Given the description of an element on the screen output the (x, y) to click on. 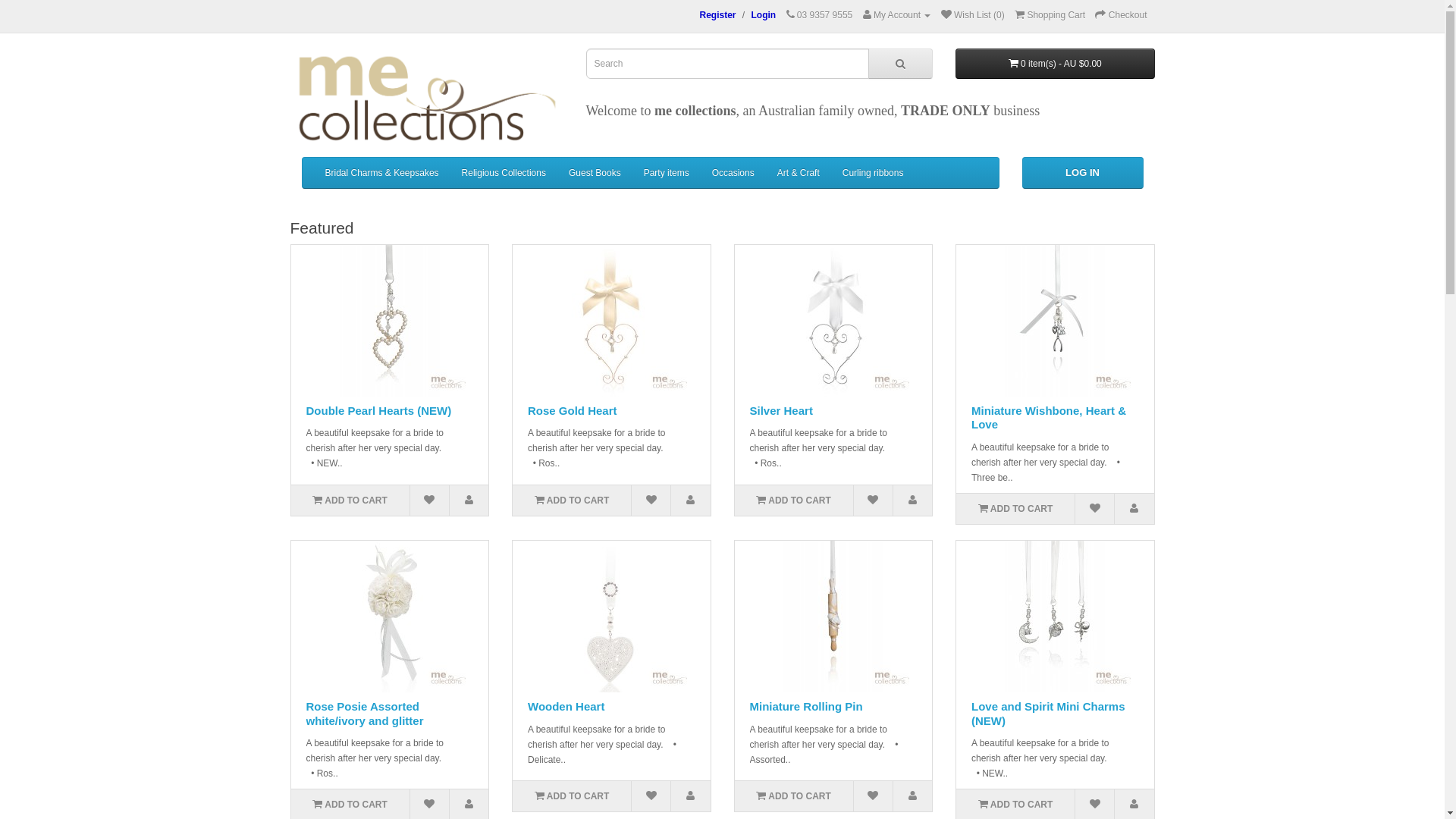
ME Collections Element type: hover (425, 98)
ADD TO CART Element type: text (350, 500)
Guest Books Element type: text (594, 172)
Religious Collections Element type: text (503, 172)
Rose Posie Assorted white/ivory and glitter Element type: text (364, 713)
LOG IN Element type: text (1082, 172)
Miniature Rolling Pin Element type: text (805, 705)
Rose Gold Heart  Element type: hover (611, 320)
ADD TO CART Element type: text (793, 796)
Shopping Cart Element type: text (1049, 14)
Party items Element type: text (666, 172)
Love and Spirit Mini Charms (NEW) Element type: hover (1054, 616)
Occasions Element type: text (732, 172)
Art & Craft Element type: text (798, 172)
Miniature Wishbone, Heart & Love Element type: hover (1054, 320)
Rose Posie Assorted white/ivory and glitter Element type: hover (389, 616)
Curling ribbons Element type: text (873, 172)
ADD TO CART Element type: text (571, 796)
Silver Heart  Element type: hover (833, 320)
Double Pearl Hearts (NEW) Element type: text (378, 410)
Bridal Charms & Keepsakes Element type: text (381, 172)
ADD TO CART Element type: text (571, 500)
Miniature Rolling Pin   Element type: hover (833, 616)
Login Element type: text (763, 14)
Checkout Element type: text (1120, 14)
Rose Gold Heart Element type: text (572, 410)
My Account Element type: text (896, 14)
Wish List (0) Element type: text (972, 14)
Love and Spirit Mini Charms (NEW) Element type: text (1048, 713)
Silver Heart Element type: text (780, 410)
Register Element type: text (717, 14)
ADD TO CART Element type: text (1015, 508)
ADD TO CART Element type: text (793, 500)
0 item(s) - AU $0.00 Element type: text (1054, 63)
Wooden Heart  Element type: hover (611, 616)
Miniature Wishbone, Heart & Love Element type: text (1048, 417)
Wooden Heart Element type: text (565, 705)
Double Pearl Hearts (NEW) Element type: hover (389, 320)
